Given the description of an element on the screen output the (x, y) to click on. 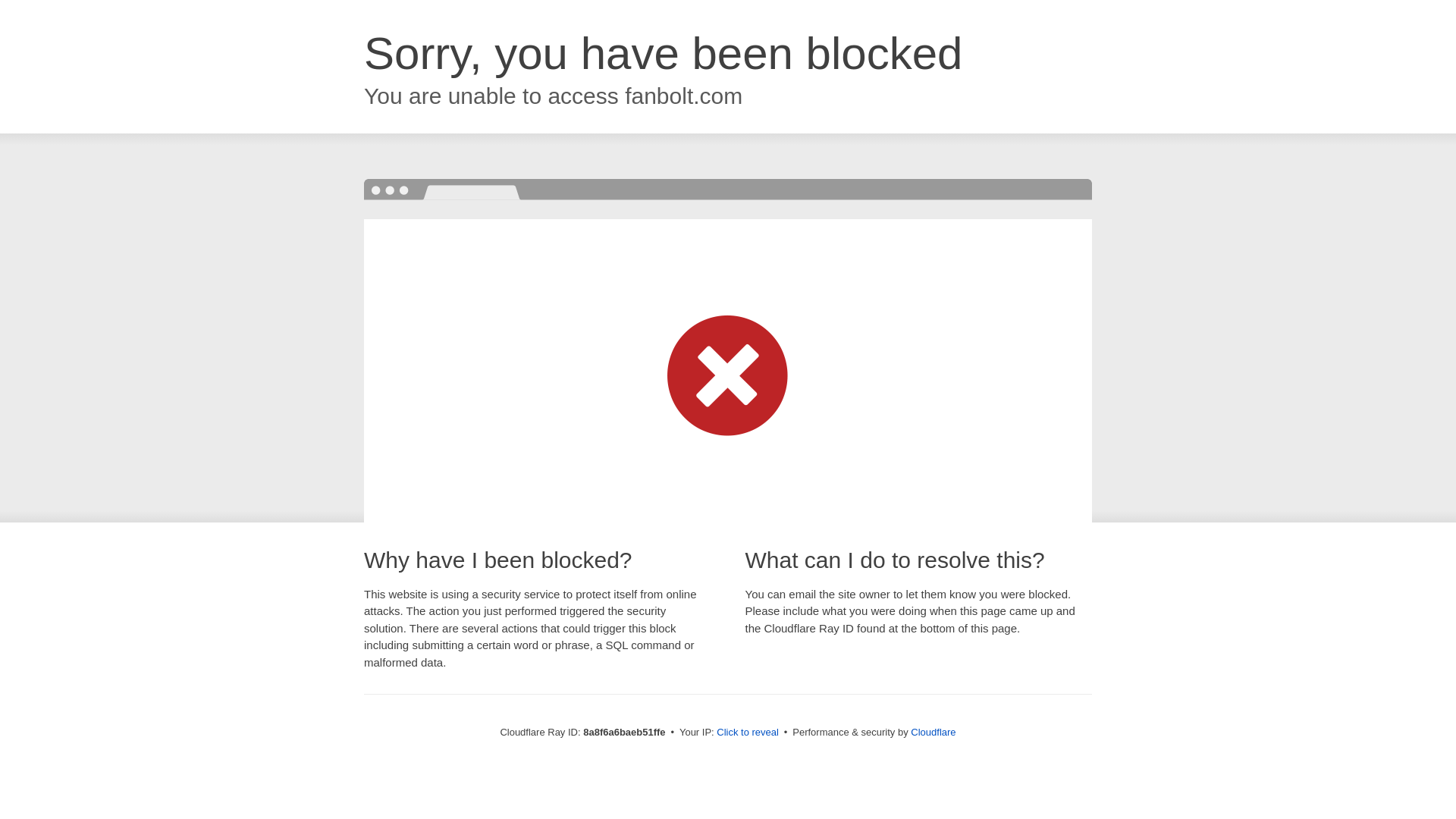
Cloudflare (933, 731)
Click to reveal (747, 732)
